Given the description of an element on the screen output the (x, y) to click on. 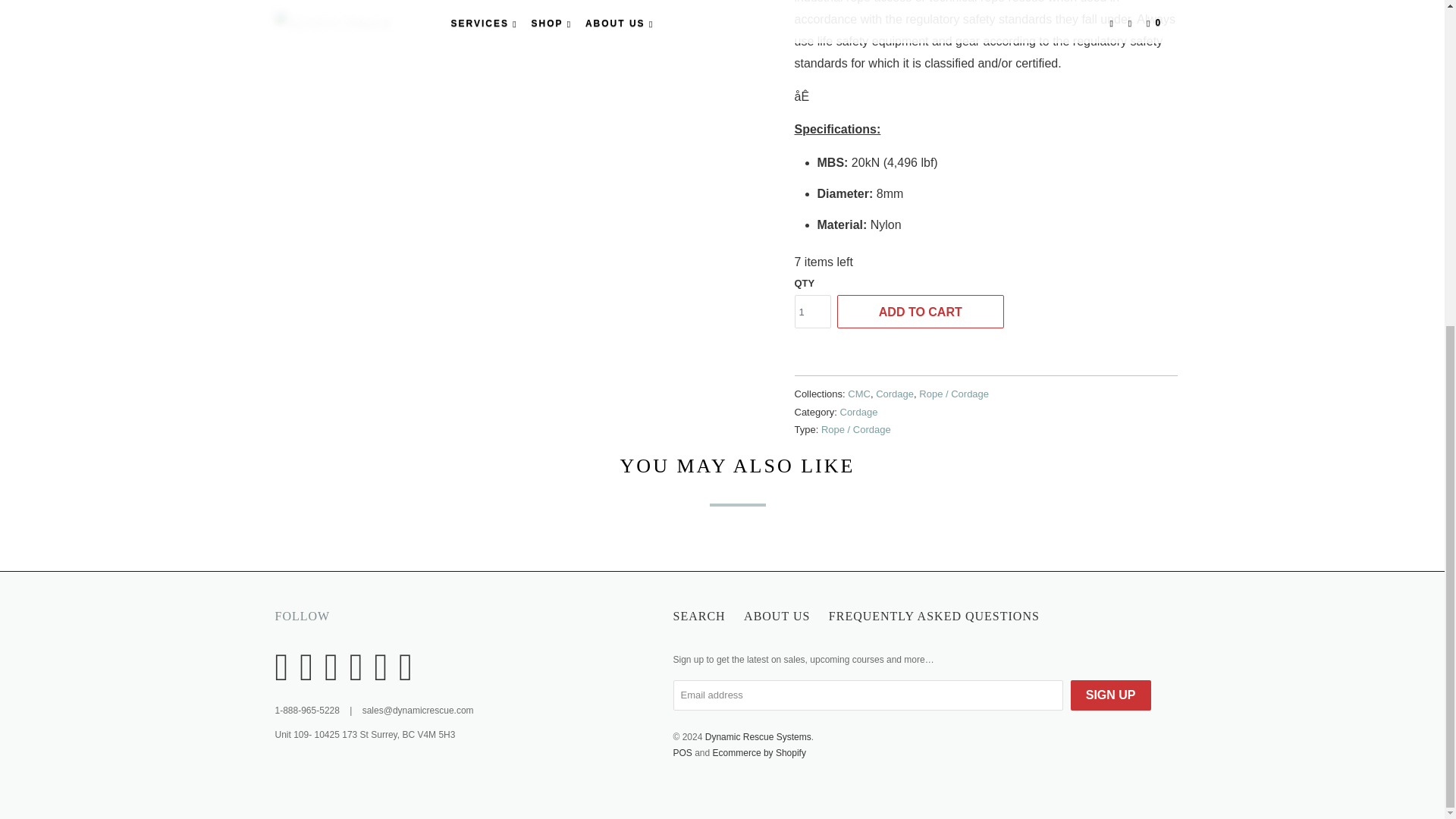
1 (812, 311)
Products tagged Cordage (858, 411)
Cordage (895, 393)
CMC (858, 393)
Sign Up (1110, 695)
